Given the description of an element on the screen output the (x, y) to click on. 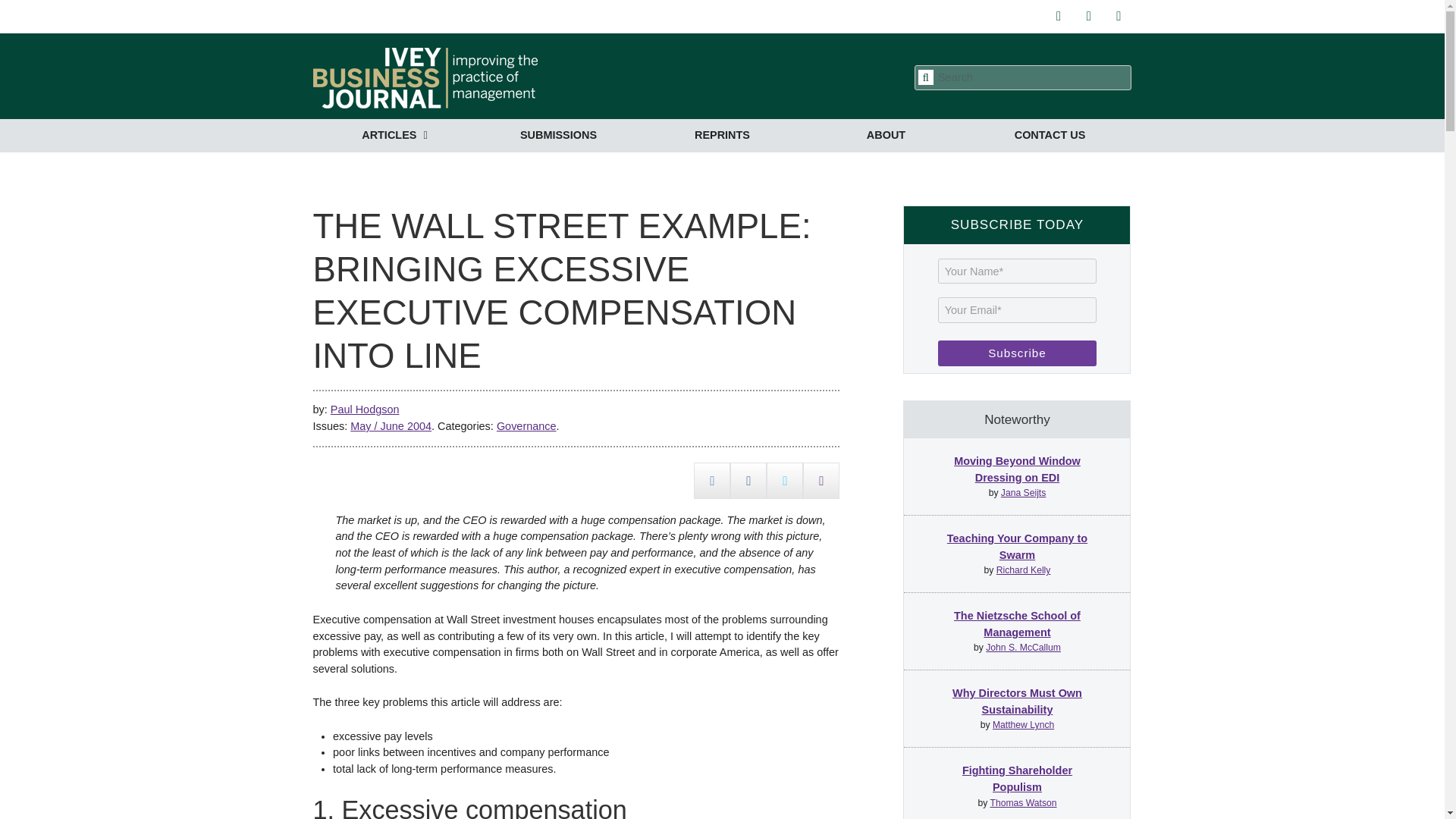
Subscribe (1016, 353)
CONTACT US (1049, 135)
Link to Like us on Facebook (1088, 15)
ARTICLES (394, 135)
Connect with us on LinkedIn (1118, 15)
Paul Hodgson (364, 409)
Governance (526, 426)
Share on LinkedIn (712, 480)
Link to Follow us on Twitter (1058, 15)
Follow us on Twitter (1058, 15)
